Given the description of an element on the screen output the (x, y) to click on. 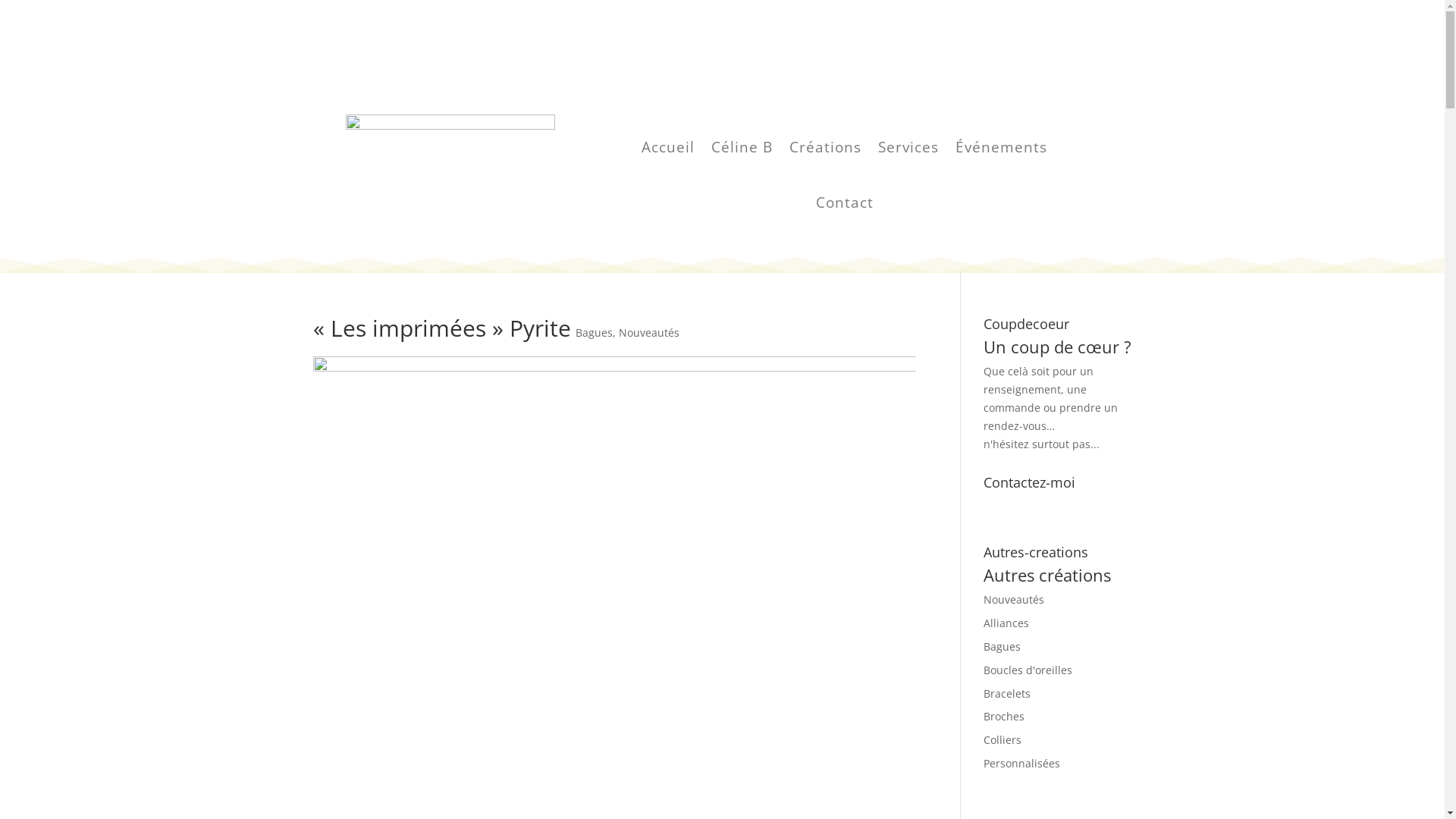
Bagues Element type: text (1001, 646)
Bagues Element type: text (592, 332)
Alliances Element type: text (1006, 622)
Accueil Element type: text (667, 150)
Boucles d'oreilles Element type: text (1027, 669)
Services Element type: text (908, 150)
Colliers Element type: text (1002, 739)
Contact Element type: text (844, 205)
Contactez-moi Element type: text (1050, 508)
Bracelets Element type: text (1006, 693)
Broches Element type: text (1003, 716)
